Given the description of an element on the screen output the (x, y) to click on. 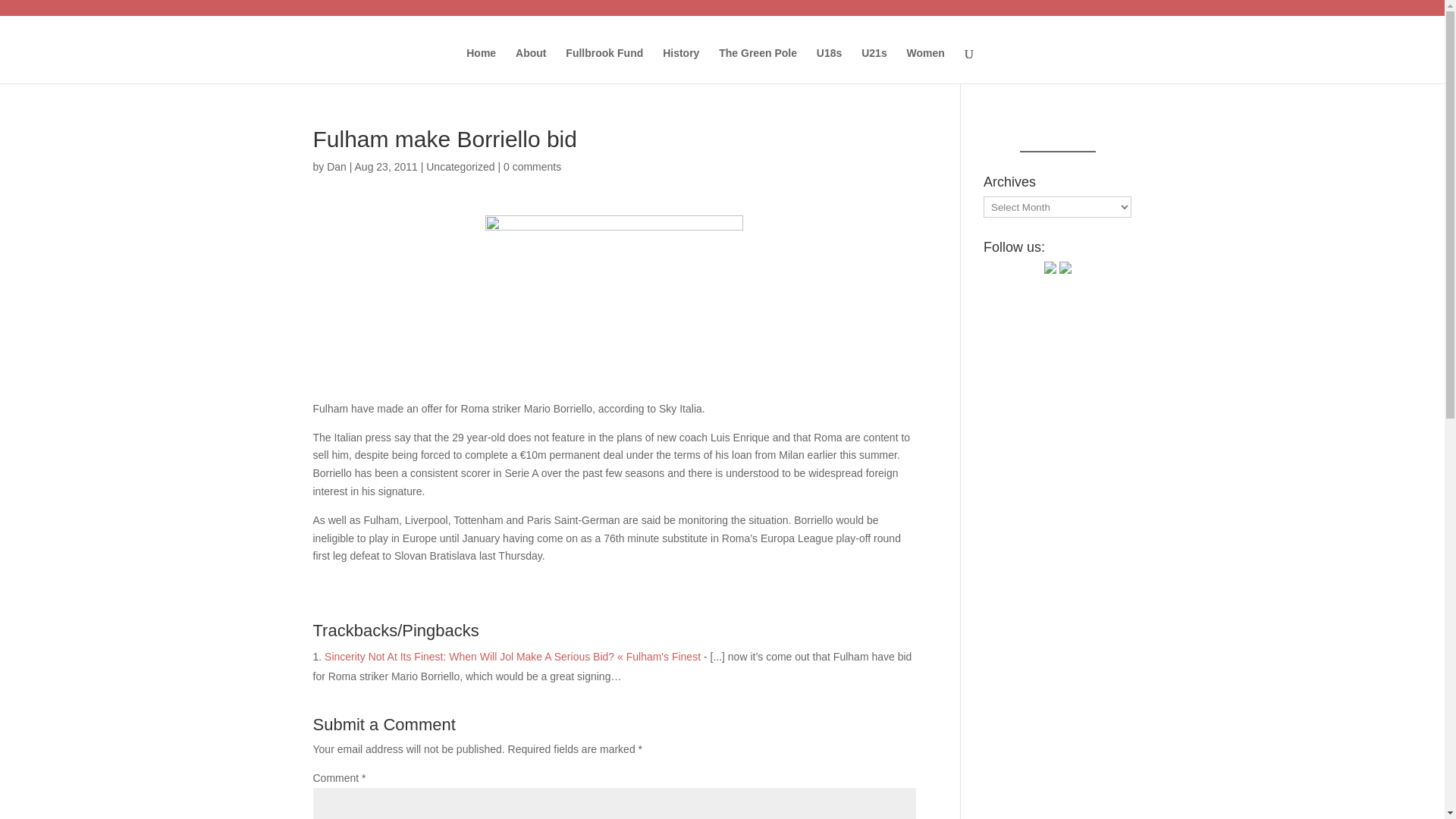
Posts by Dan (336, 166)
About (530, 65)
History (680, 65)
Fullbrook Fund (604, 65)
Home (480, 65)
